Given the description of an element on the screen output the (x, y) to click on. 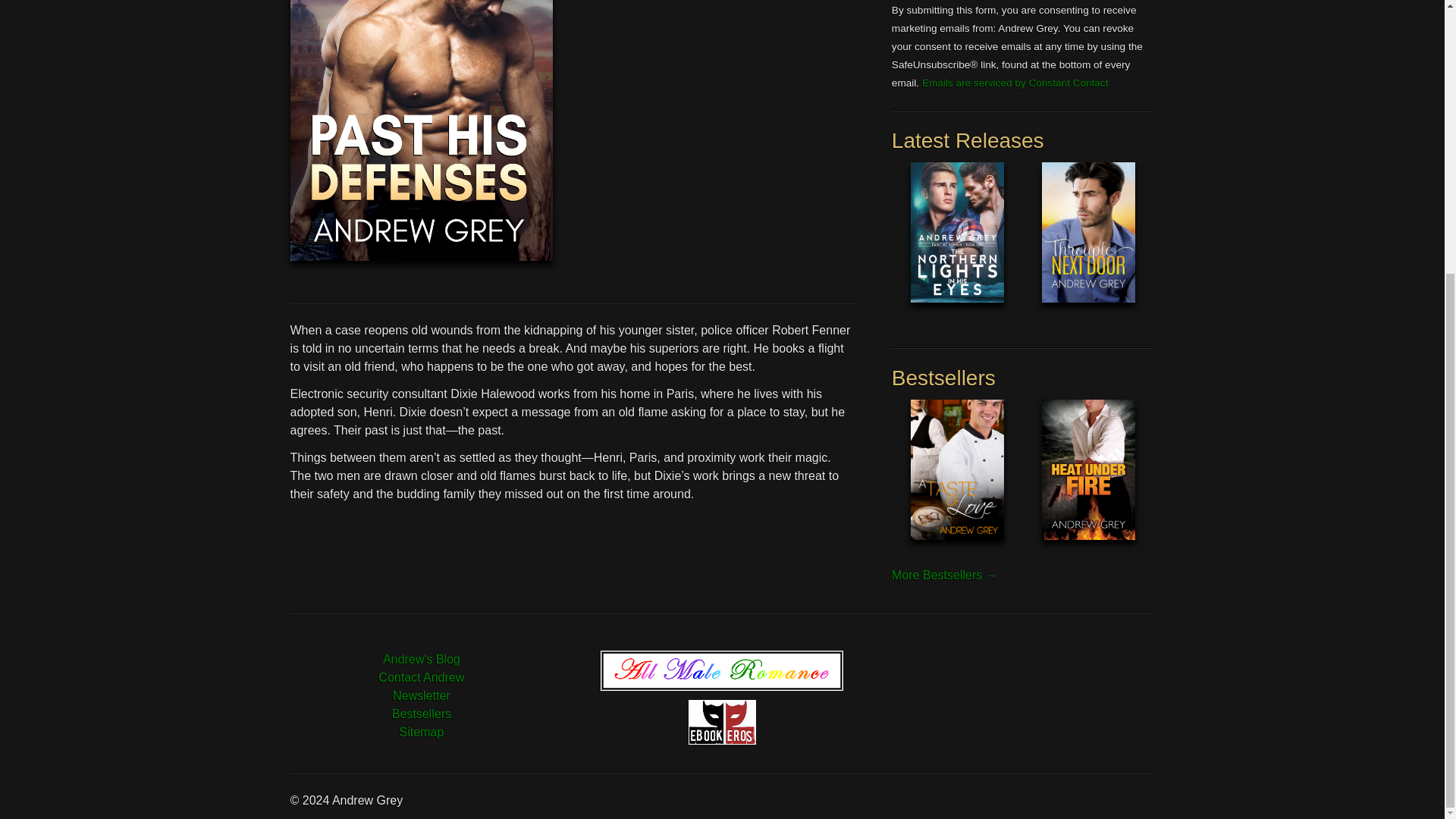
More Bestsellers (944, 574)
Bestsellers (421, 713)
Northern Lights in HIs Eyes (957, 244)
Throuple Next Door (1088, 244)
Contact Andrew (421, 676)
Heat Under Fire (1088, 481)
A Taste of Love (957, 481)
Andrew's Blog (421, 658)
Newsletter (421, 695)
